Given the description of an element on the screen output the (x, y) to click on. 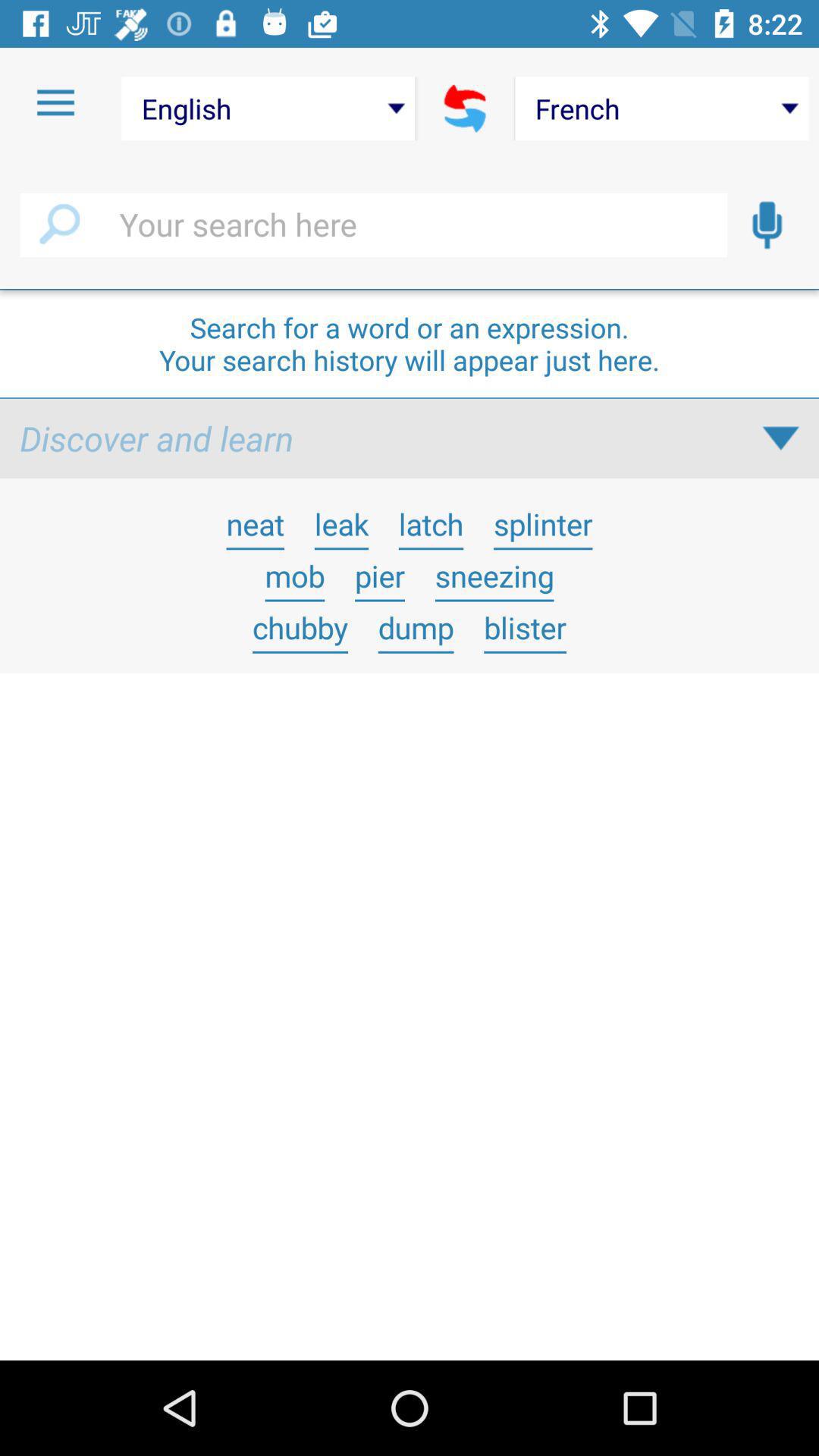
launch item next to the english item (55, 103)
